Given the description of an element on the screen output the (x, y) to click on. 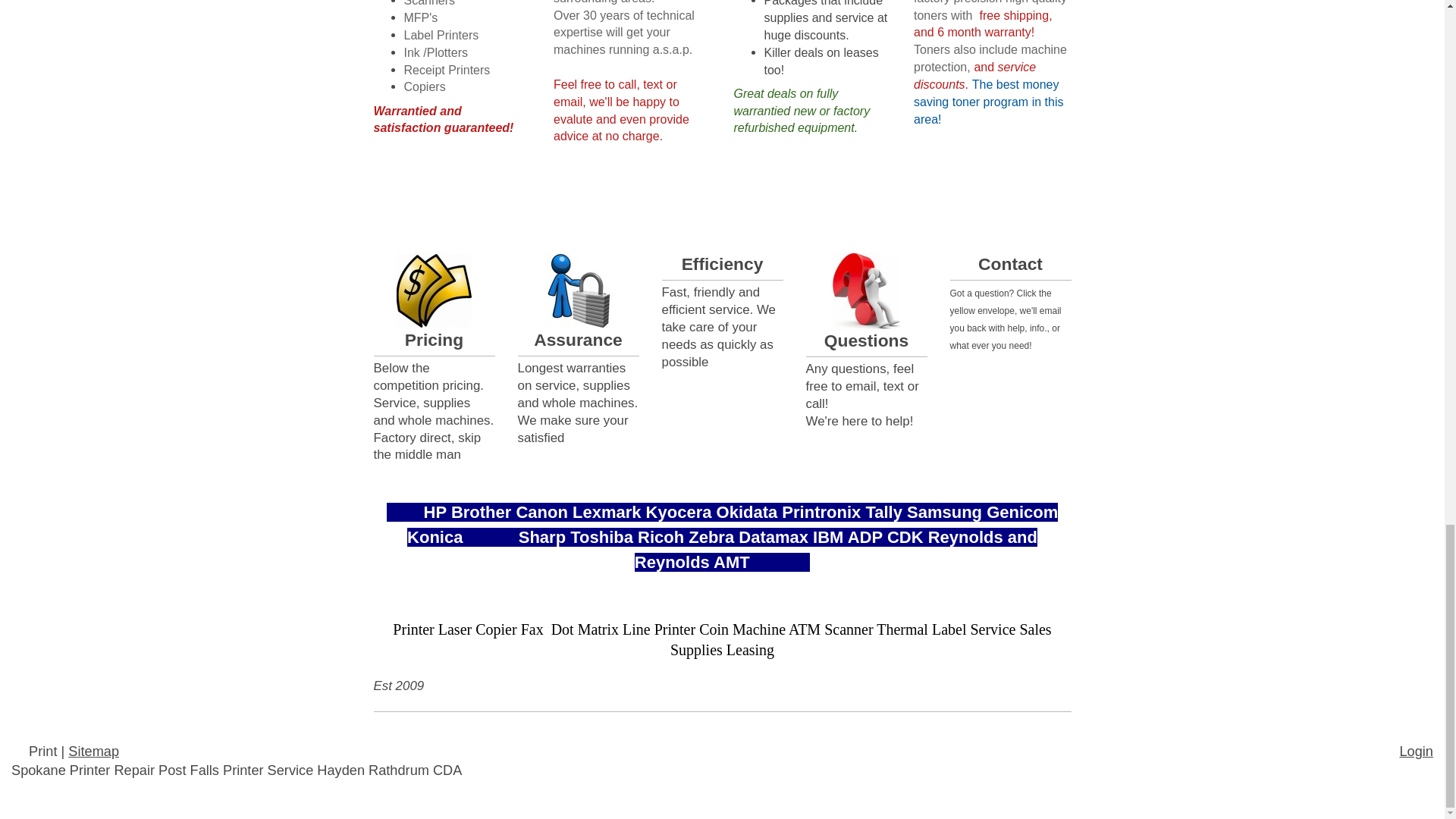
Print (36, 751)
Sitemap (93, 751)
Login (1415, 751)
